Given the description of an element on the screen output the (x, y) to click on. 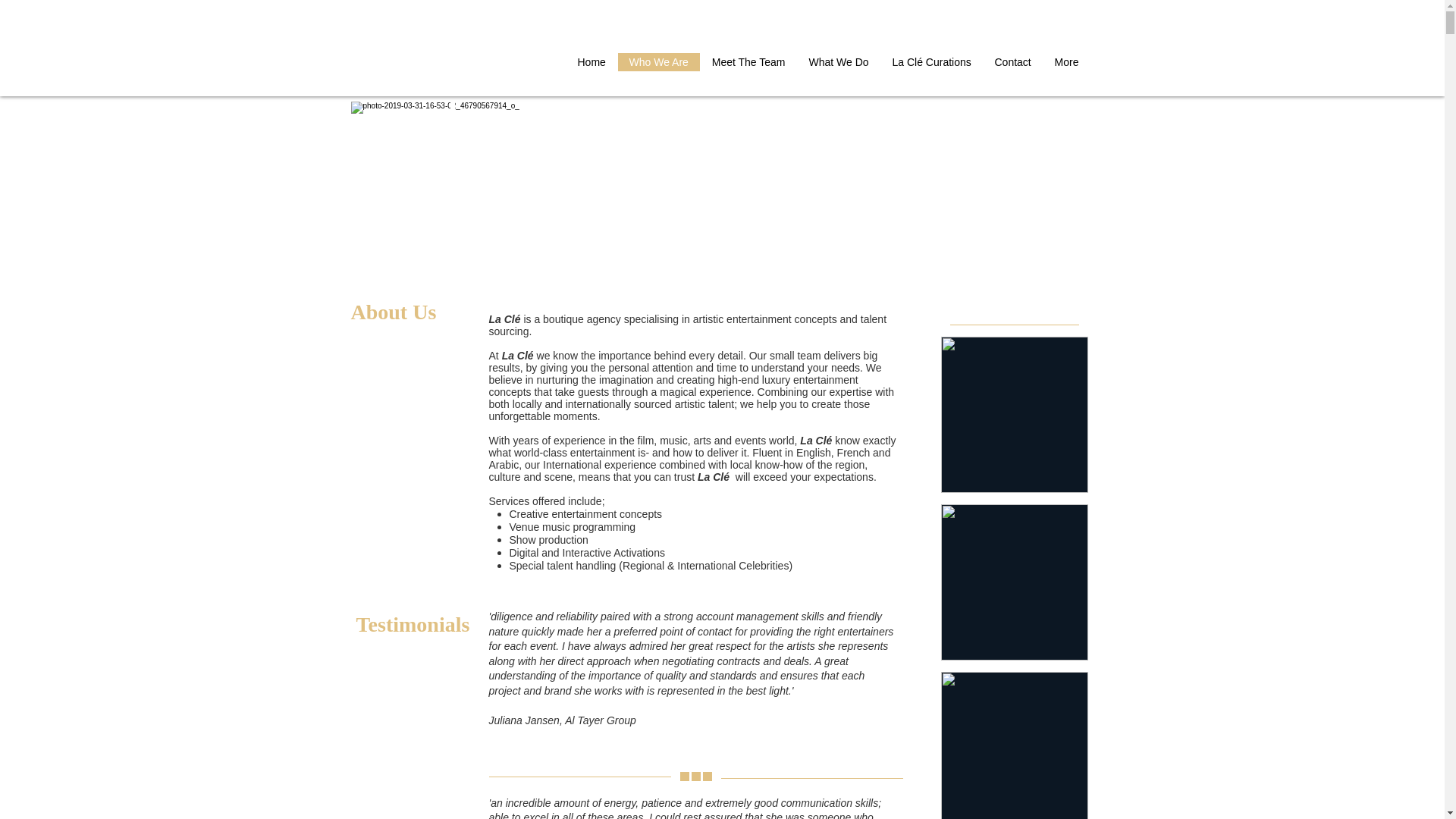
Who We Are (658, 62)
What We Do (837, 62)
Home (591, 62)
Meet The Team (747, 62)
Contact (1012, 62)
